Given the description of an element on the screen output the (x, y) to click on. 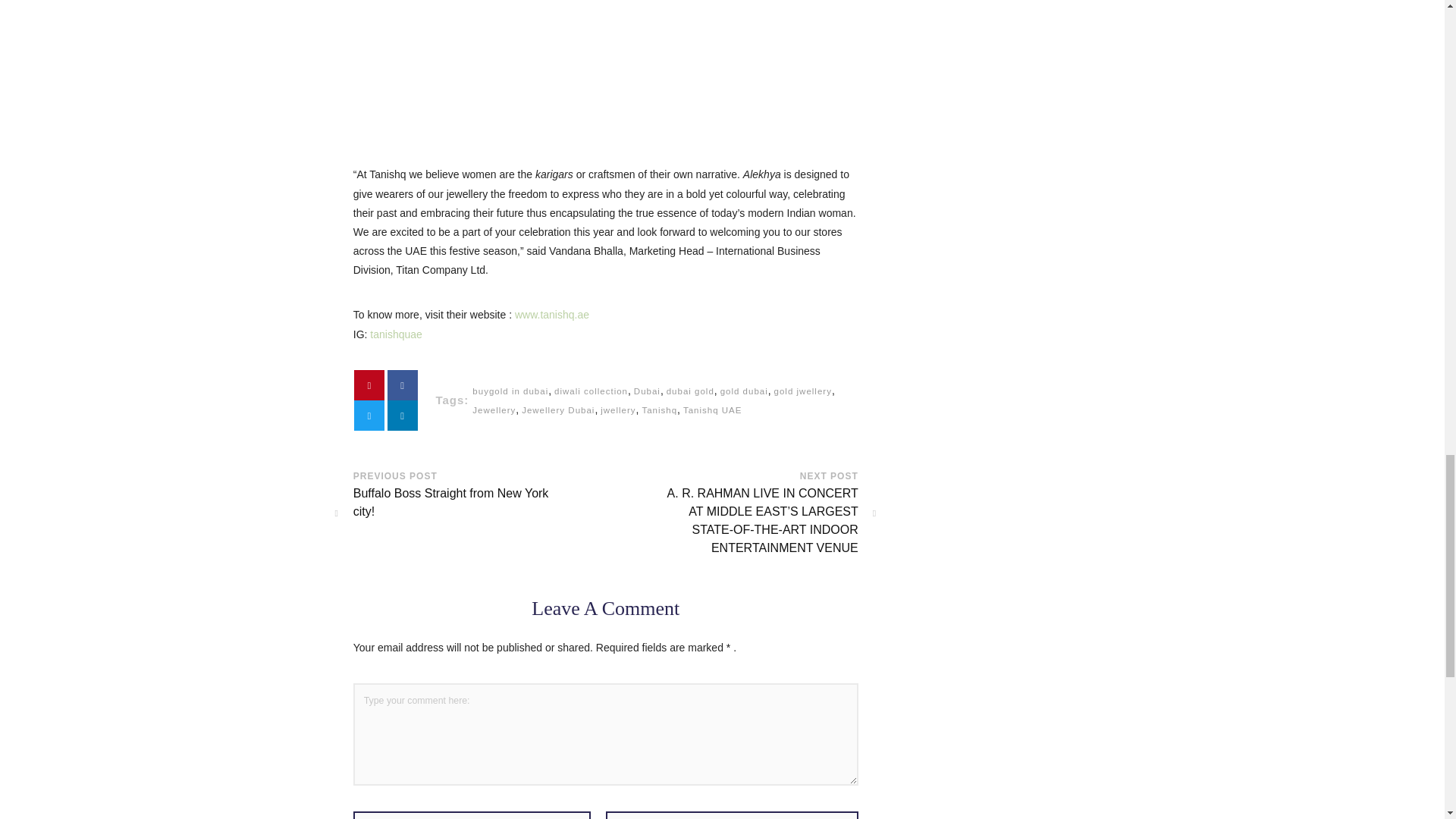
Tanishq UAE (712, 410)
jwellery (616, 410)
Tanishq (659, 410)
Dubai (647, 391)
buygold in dubai (509, 391)
Jewellery Dubai (557, 410)
tanishquae (395, 334)
Jewellery (493, 410)
gold jwellery (802, 391)
dubai gold (690, 391)
